Given the description of an element on the screen output the (x, y) to click on. 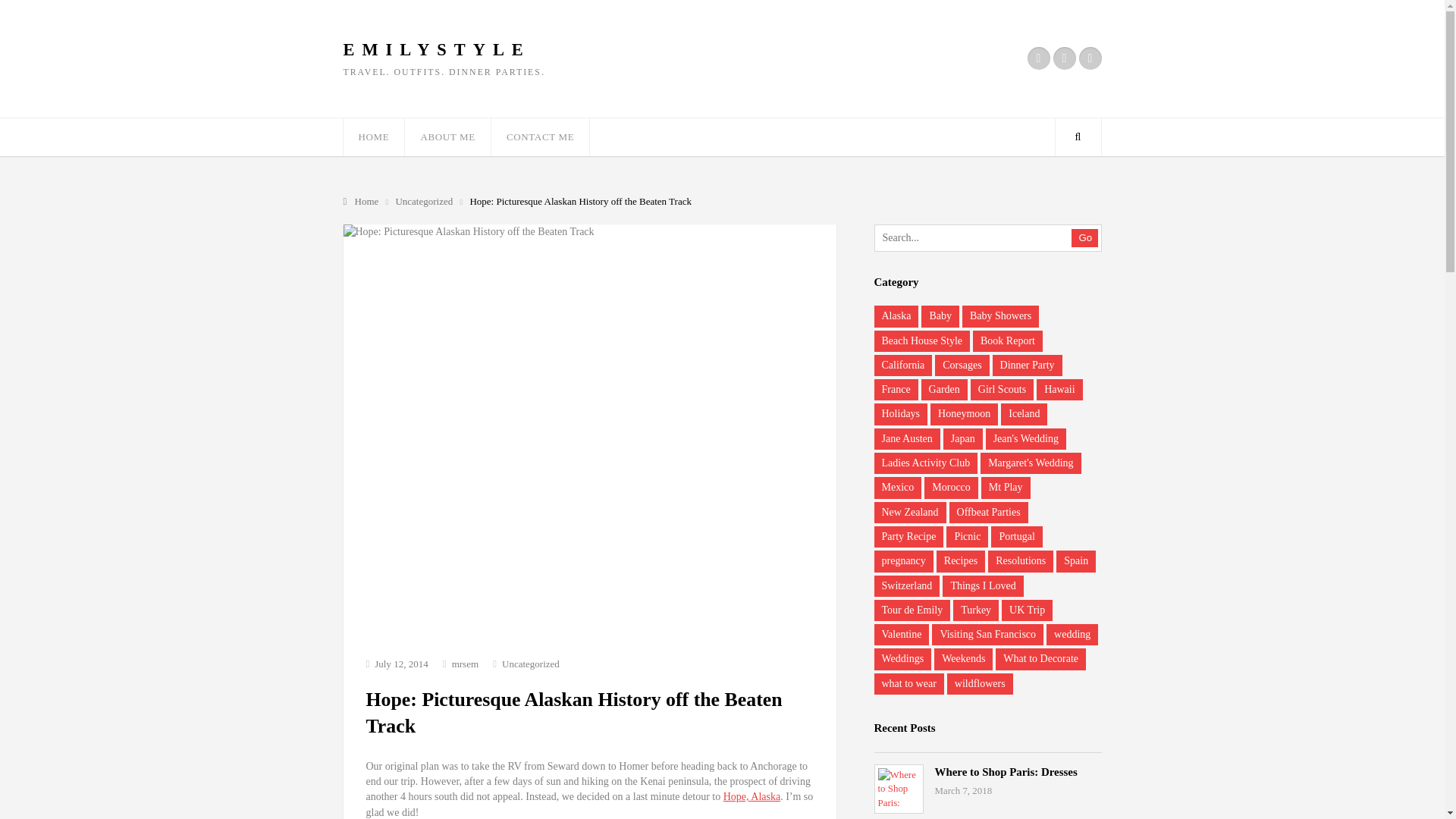
Uncategorized (530, 663)
EmilyStyle (361, 201)
Posts by mrsem (465, 663)
HOME (373, 136)
EMILYSTYLE (435, 49)
Uncategorized (424, 201)
Pinterest (1089, 57)
mrsem (465, 663)
CONTACT ME (540, 136)
EmilyStyle (435, 49)
Search (1077, 136)
Flickr (1037, 57)
Hope, Alaska (751, 796)
Uncategorized (424, 201)
Home (361, 201)
